Given the description of an element on the screen output the (x, y) to click on. 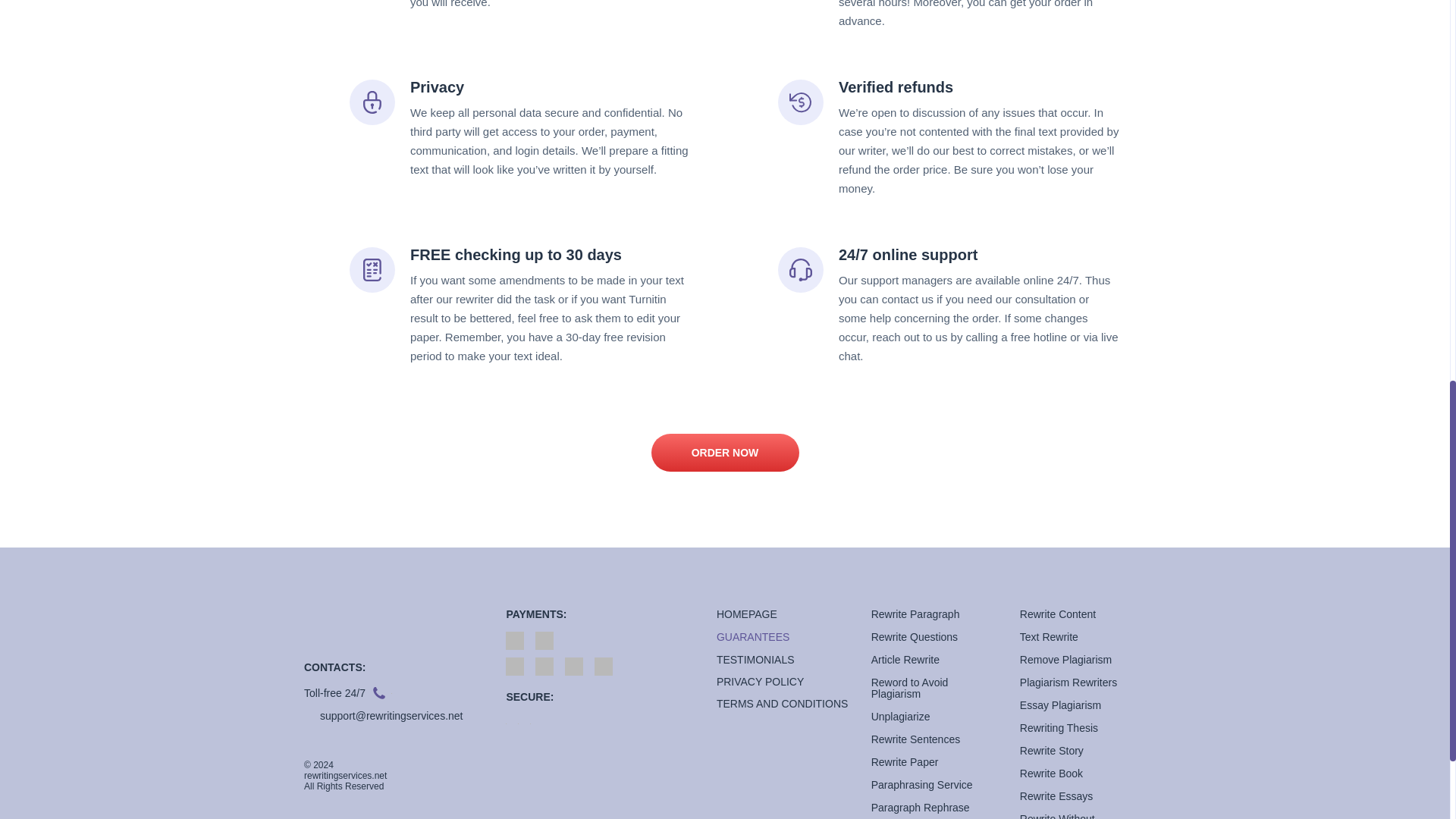
TESTIMONIALS (755, 659)
TERMS AND CONDITIONS (781, 703)
Rewriting Thesis (1058, 727)
HOMEPAGE (746, 613)
GUARANTEES (752, 636)
Rewrite Content (1058, 613)
Essay Plagiarism (1060, 705)
Paragraph Rephrase (919, 807)
Text Rewrite (1049, 636)
Rewrite Paper (904, 761)
Rewrite Questions (914, 636)
Rewrite Paragraph (914, 613)
Unplagiarize (900, 716)
Reword to Avoid Plagiarism (909, 688)
Remove Plagiarism (1066, 659)
